Given the description of an element on the screen output the (x, y) to click on. 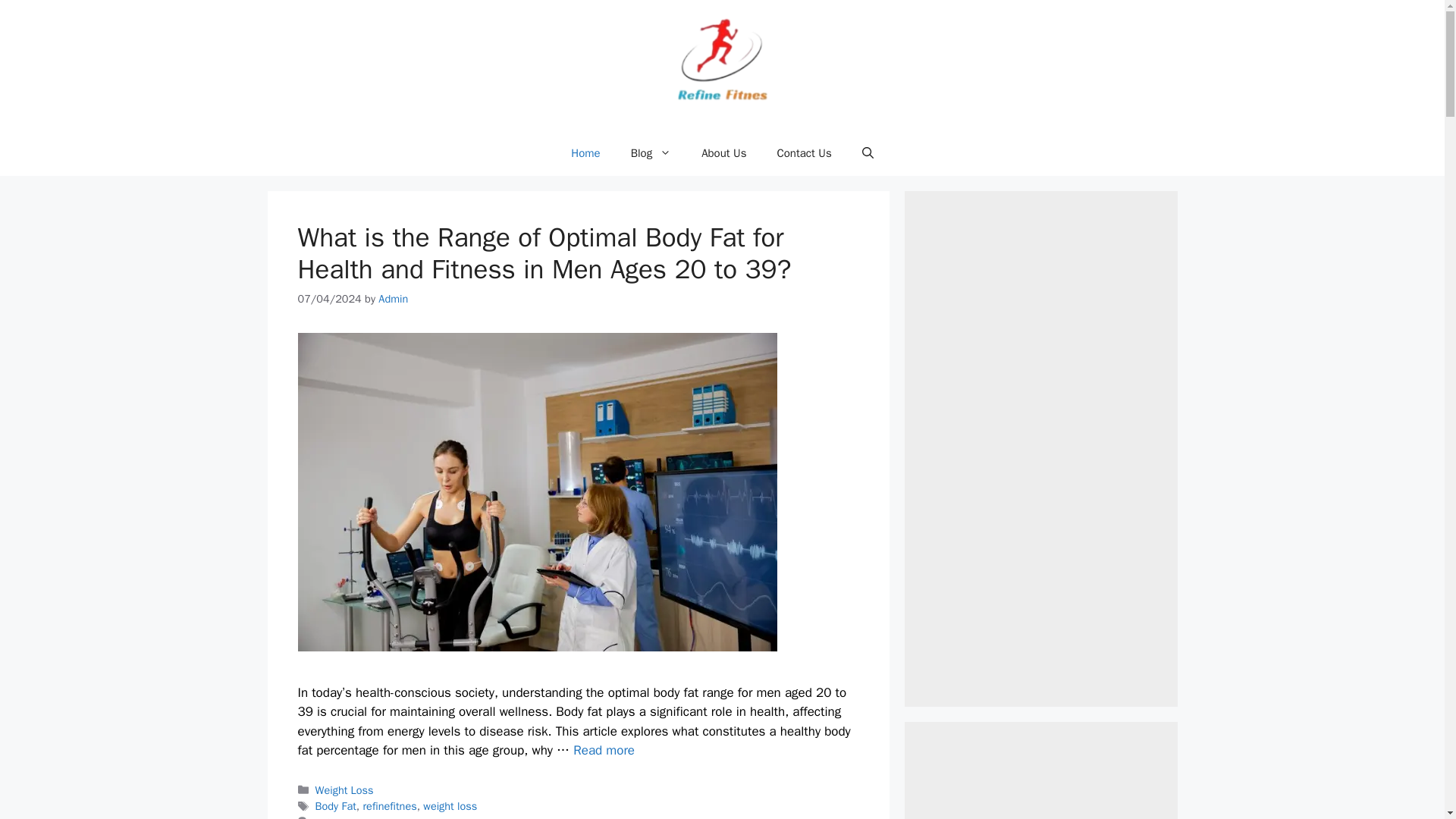
refinefitnes (389, 806)
weight loss (450, 806)
7 Comments (346, 817)
Blog (650, 153)
Read more (603, 750)
Home (585, 153)
Body Fat (335, 806)
Admin (392, 298)
View all posts by Admin (392, 298)
About Us (723, 153)
Weight Loss (344, 789)
Contact Us (803, 153)
